Given the description of an element on the screen output the (x, y) to click on. 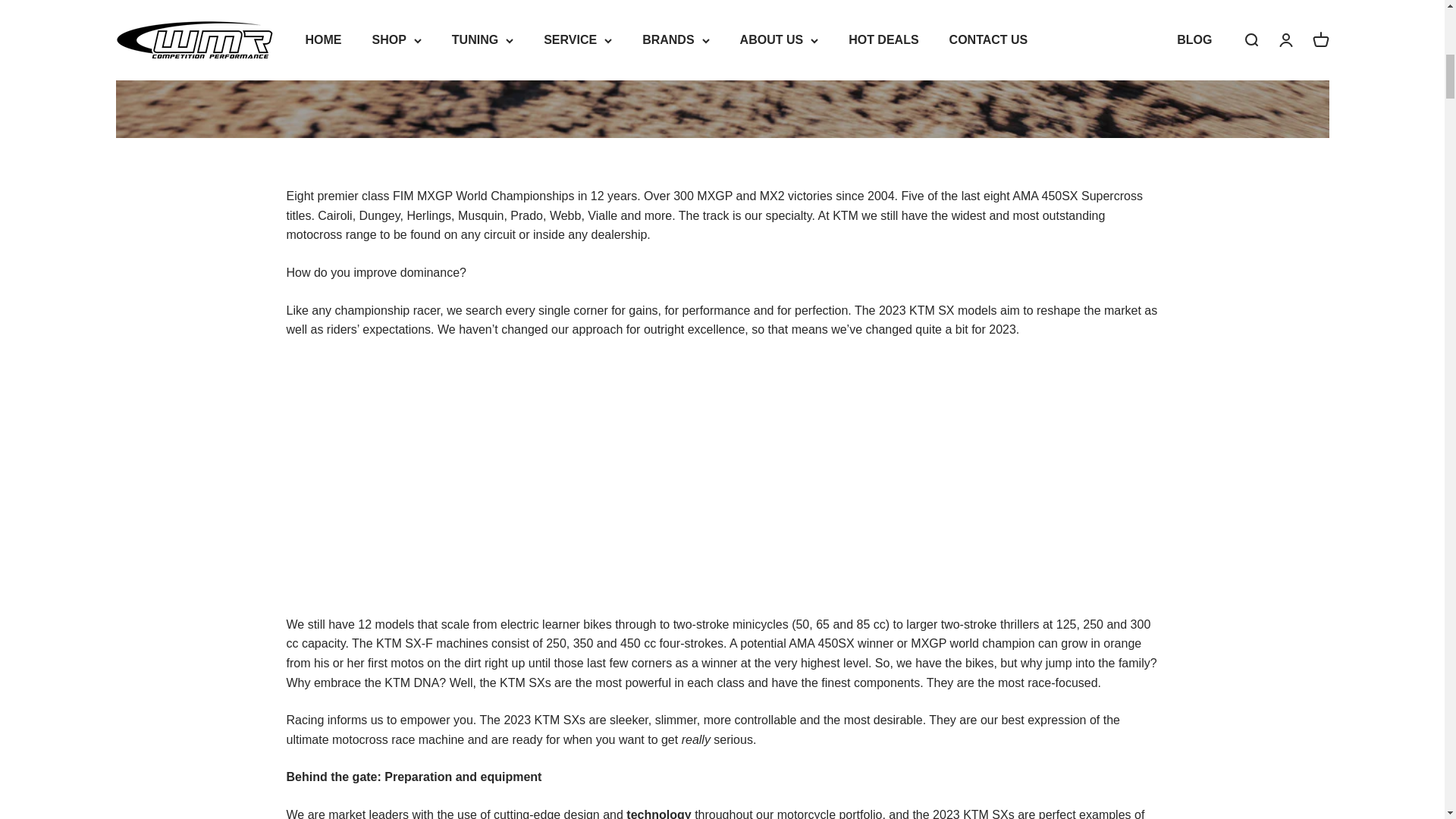
YouTube video player (498, 477)
